Given the description of an element on the screen output the (x, y) to click on. 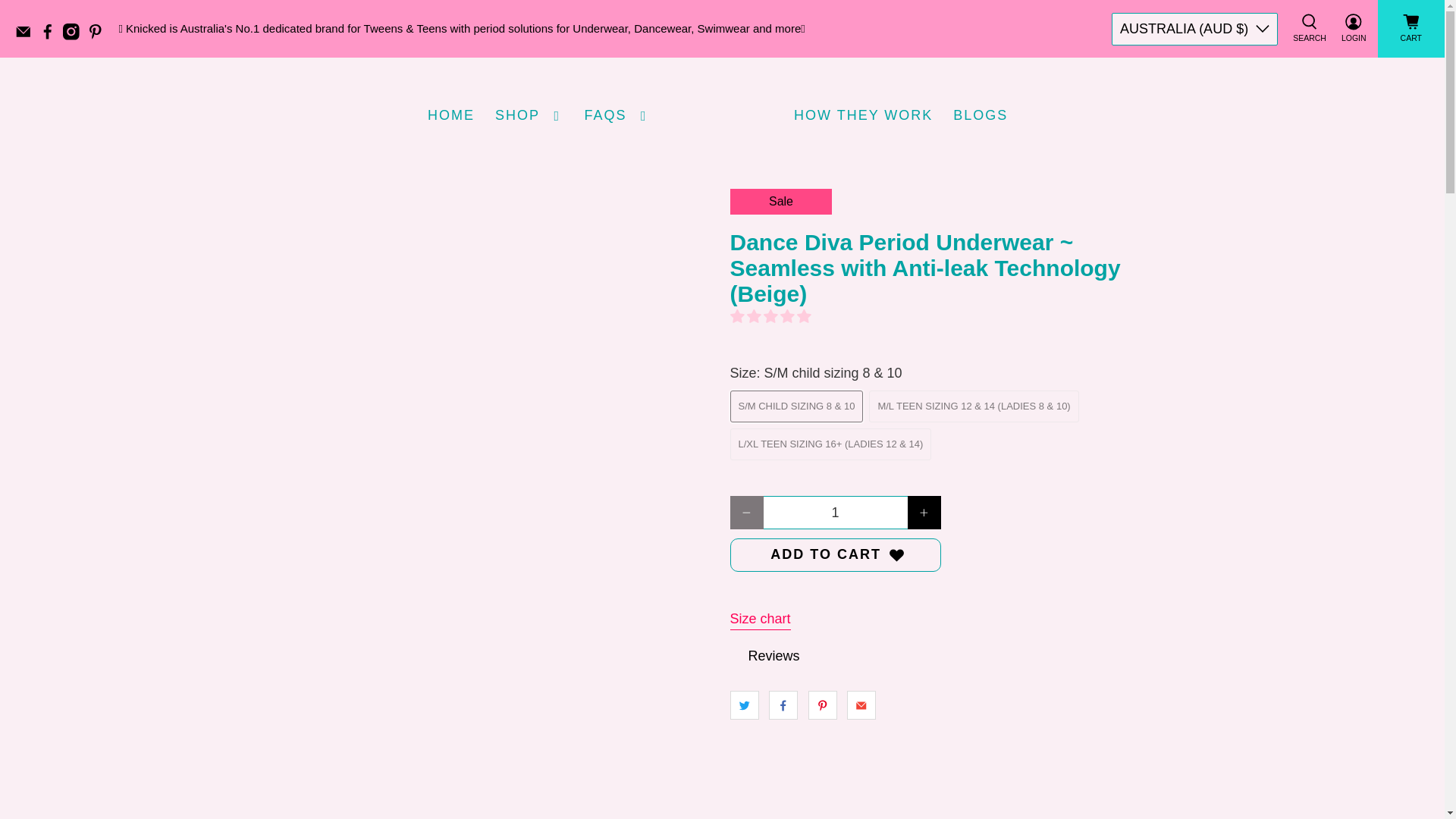
BLOGS (980, 115)
1 (834, 512)
AU (1194, 67)
US (1194, 153)
Knicked Australia (722, 115)
Knicked Australia on Facebook (51, 35)
HOW THEY WORK (863, 115)
Email Knicked Australia (26, 35)
Knicked Australia on Instagram (74, 35)
HOME (450, 115)
